Given the description of an element on the screen output the (x, y) to click on. 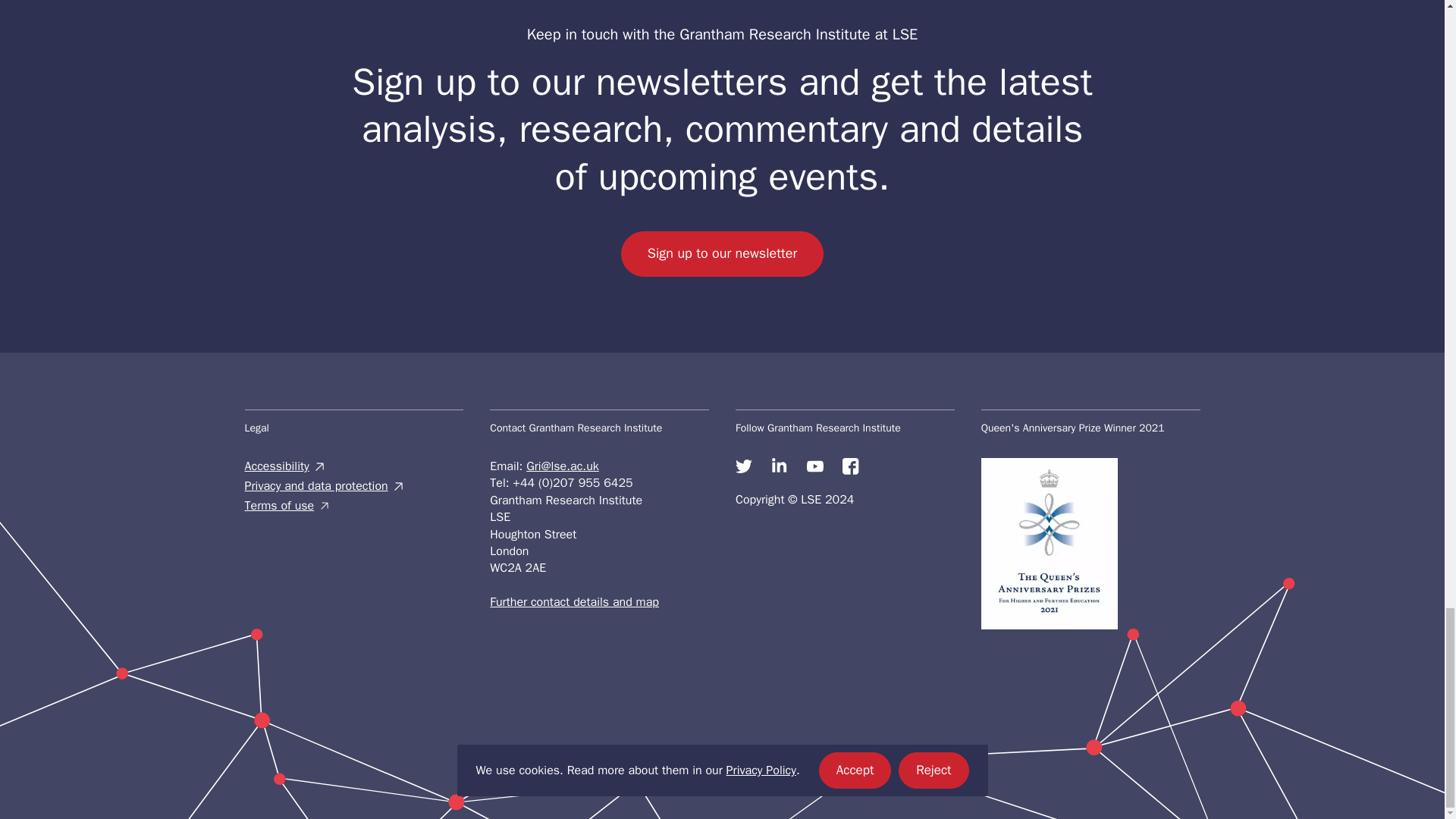
Accessibility (353, 466)
